Given the description of an element on the screen output the (x, y) to click on. 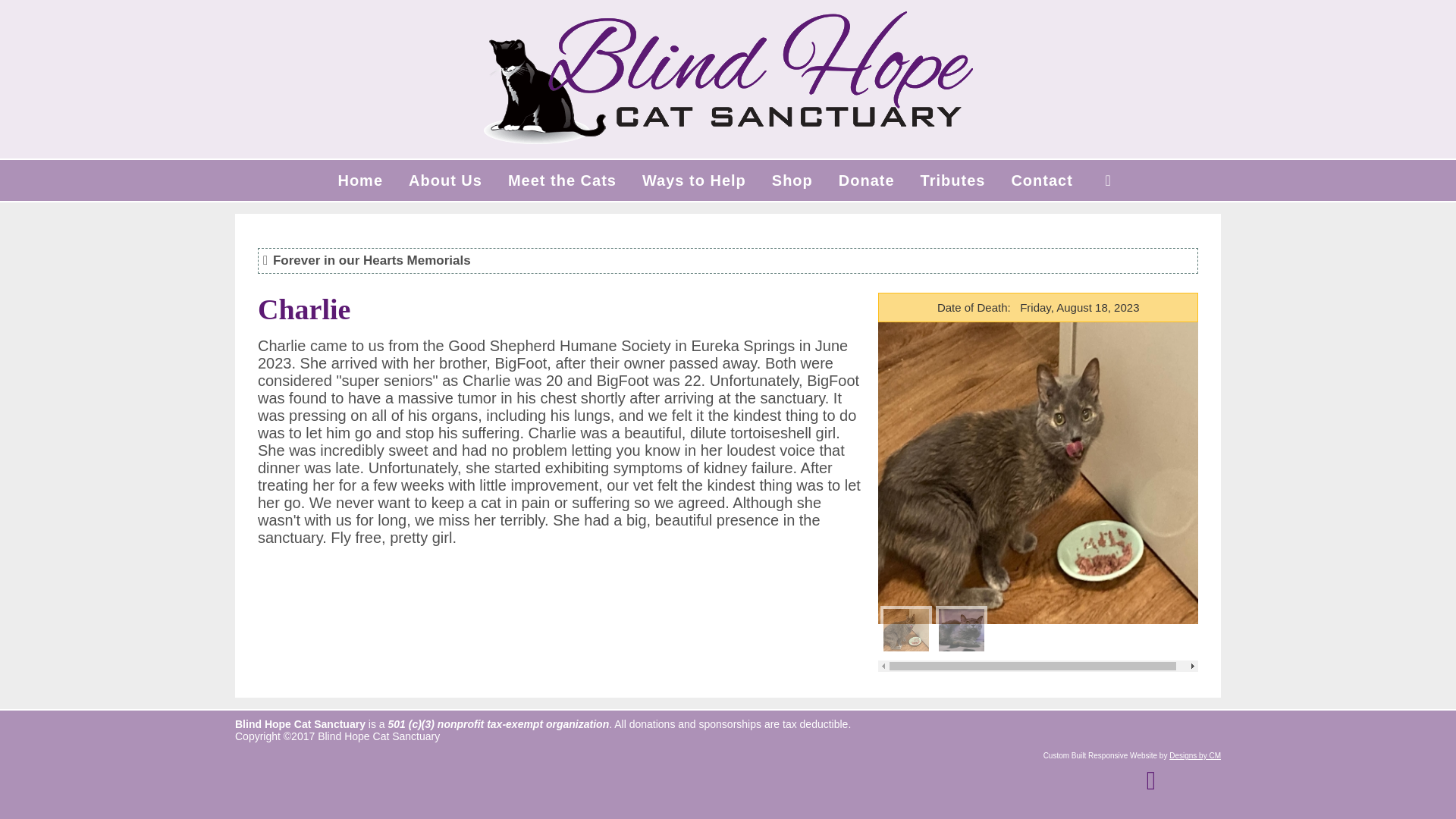
Charlie 1 (905, 632)
Home (360, 179)
Charlie 2 (961, 632)
Contact (1040, 179)
Forever in our Hearts Memorials (370, 260)
About Us (445, 179)
Shop (791, 179)
Donate (866, 179)
Tributes (952, 179)
Designs by CM (1195, 755)
